Given the description of an element on the screen output the (x, y) to click on. 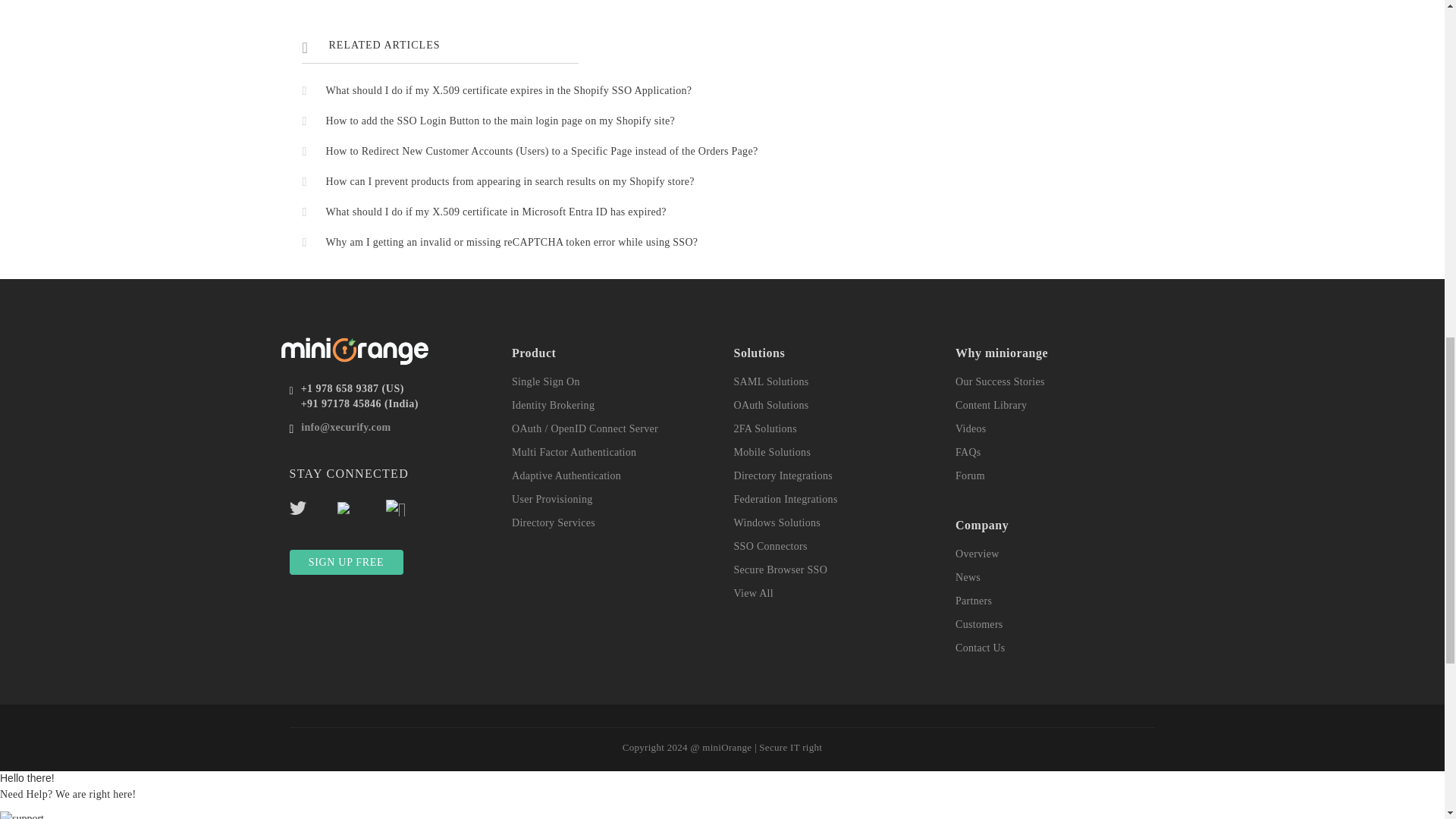
Facebook (361, 503)
OAuth Solutions (771, 405)
SAML Solutions (771, 381)
SIGN UP FREE (346, 561)
Twitter (313, 503)
Multi Factor Authentication (574, 451)
Adaptive Authentication (566, 475)
